Given the description of an element on the screen output the (x, y) to click on. 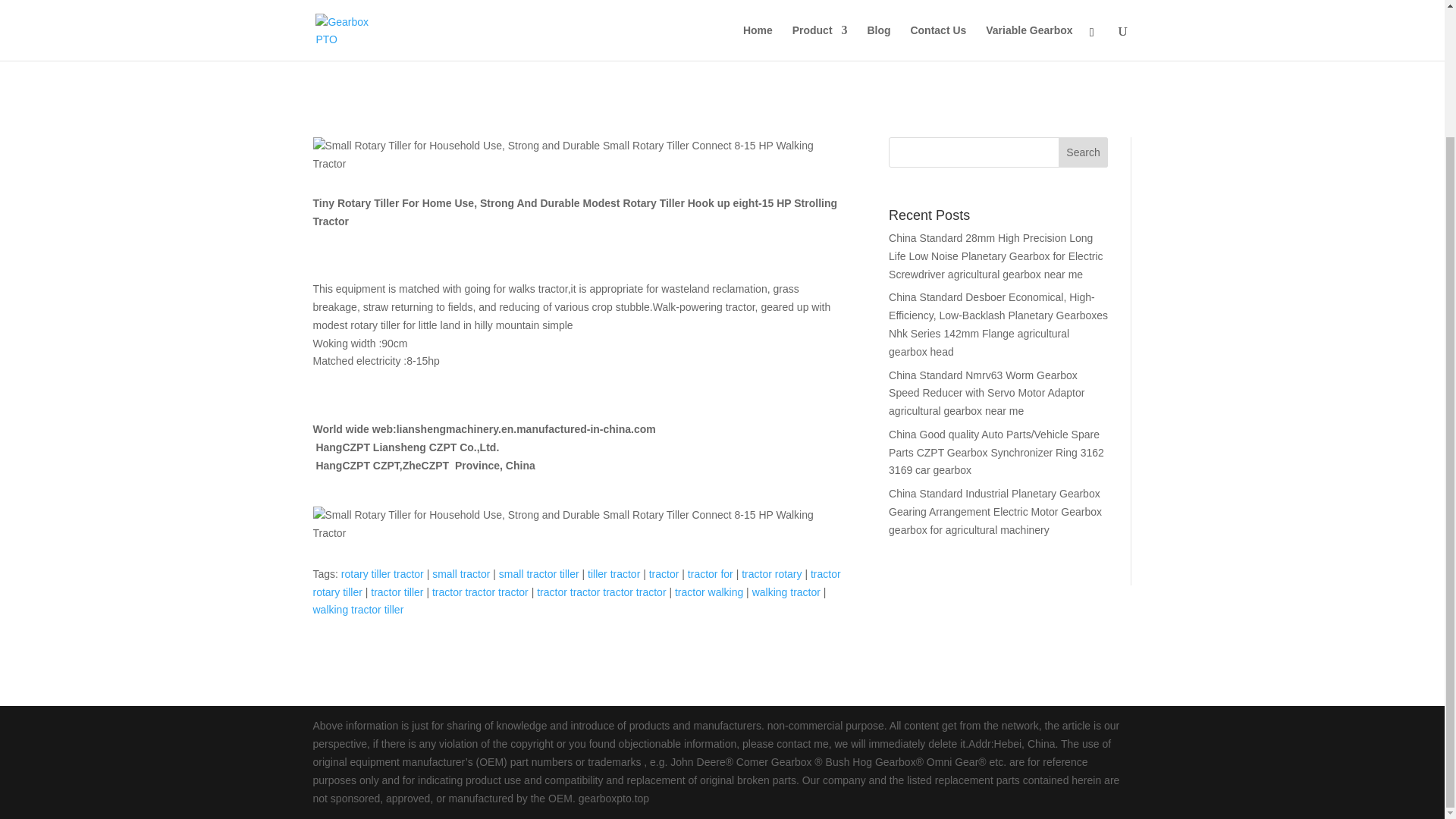
tiller tractor (614, 573)
tractor (664, 573)
walking tractor (786, 592)
small tractor (460, 573)
Search (1083, 152)
tractor walking (708, 592)
walking tractor tiller (358, 609)
tractor tractor tractor (480, 592)
Search (1083, 152)
small tractor tiller (539, 573)
rotary tiller tractor (381, 573)
tractor rotary (771, 573)
